Given the description of an element on the screen output the (x, y) to click on. 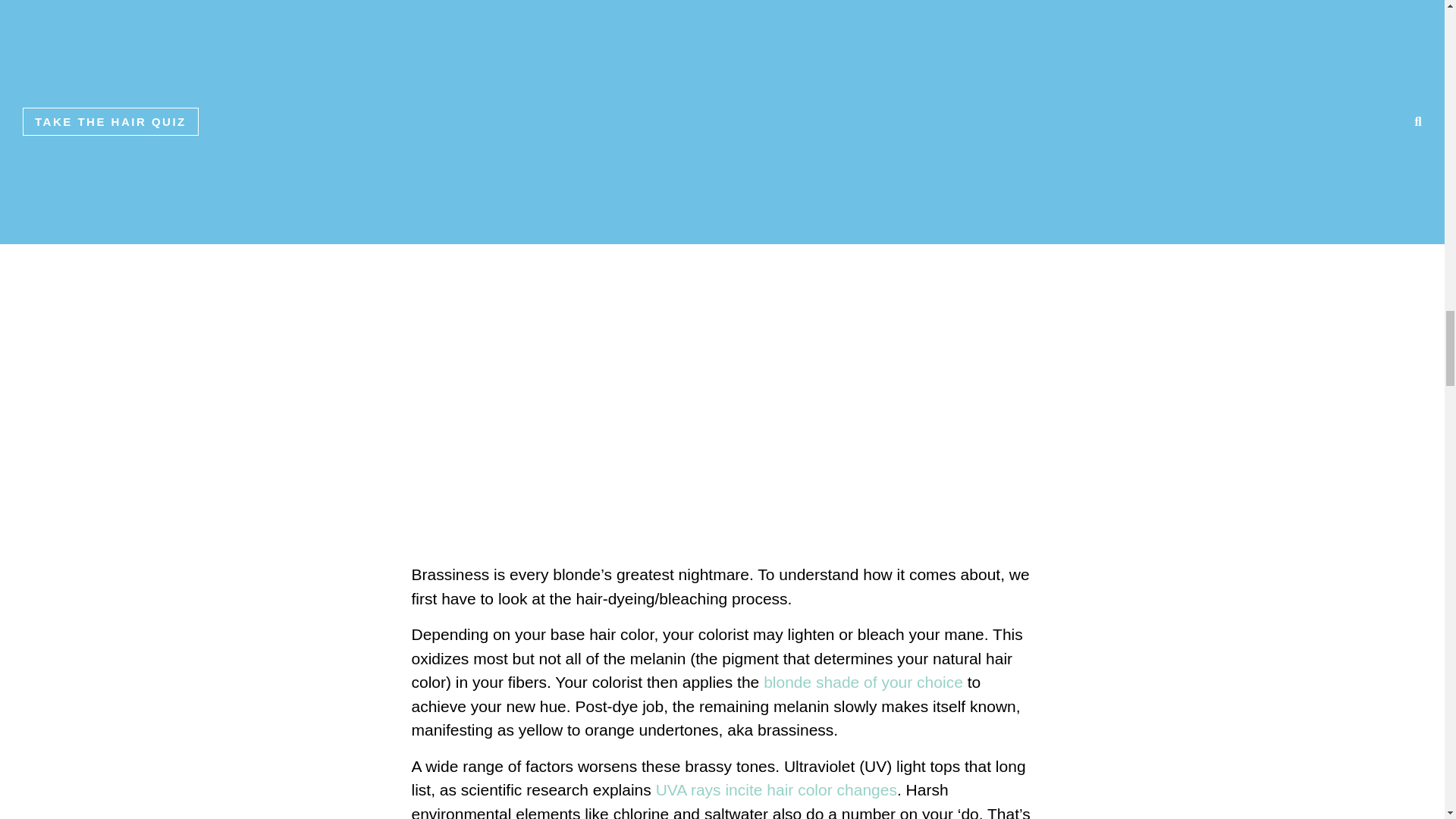
UVA rays incite hair color changes (776, 789)
blonde shade of your choice (862, 682)
